Given the description of an element on the screen output the (x, y) to click on. 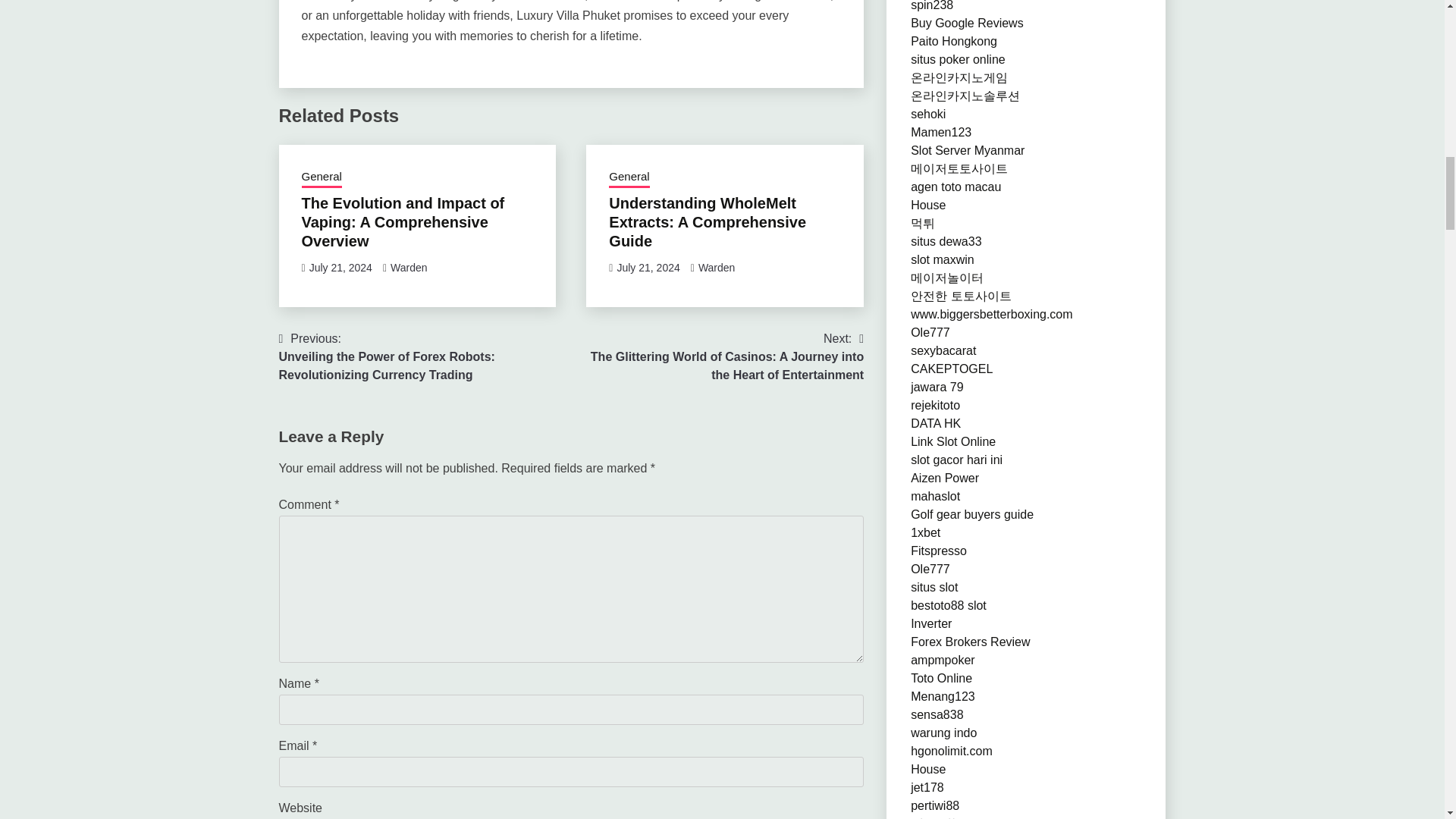
1xbet (925, 532)
July 21, 2024 (340, 267)
General (321, 178)
Warden (409, 267)
The Evolution and Impact of Vaping: A Comprehensive Overview (403, 221)
General (628, 178)
July 21, 2024 (647, 267)
Understanding WholeMelt Extracts: A Comprehensive Guide (707, 221)
Warden (716, 267)
